Given the description of an element on the screen output the (x, y) to click on. 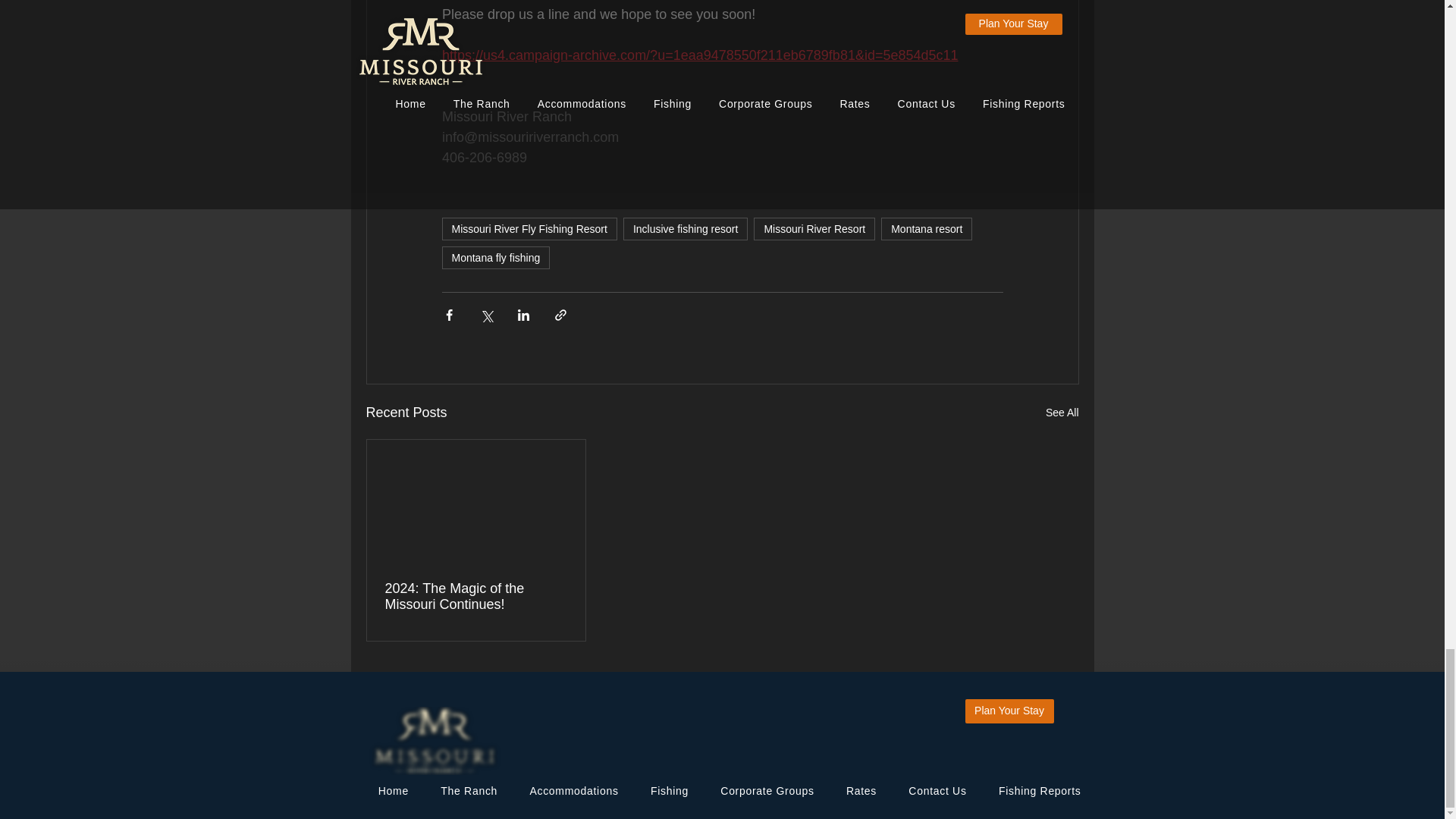
The Ranch (462, 791)
Montana resort (926, 228)
Rates (855, 791)
Corporate Groups (761, 791)
See All (1061, 413)
Home (386, 791)
Contact Us (930, 791)
Fishing Reports (1033, 791)
2024: The Magic of the Missouri Continues! (476, 596)
Accommodations (567, 791)
